Given the description of an element on the screen output the (x, y) to click on. 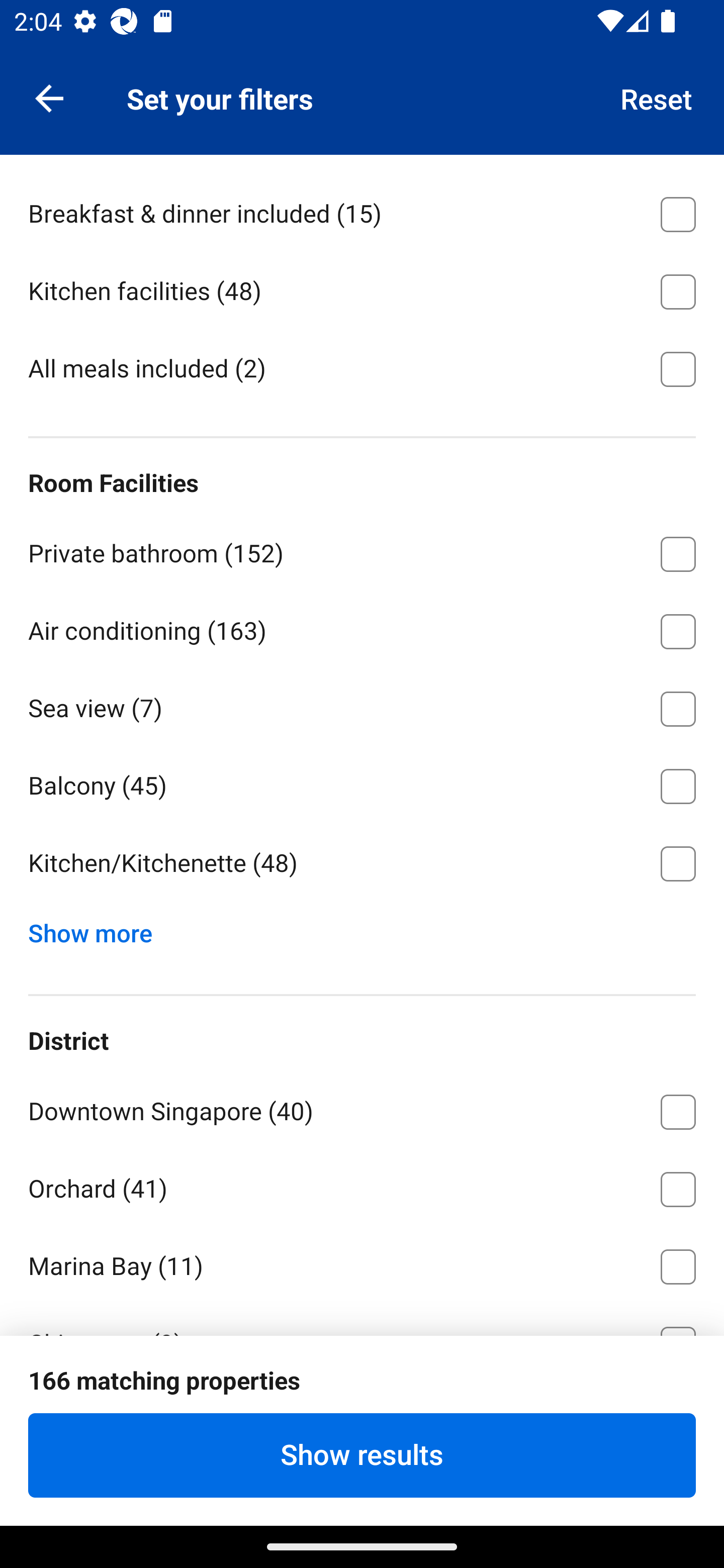
Navigate up (49, 97)
Reset (656, 97)
Breakfast & dinner included ⁦(15) (361, 210)
Kitchen facilities ⁦(48) (361, 288)
All meals included ⁦(2) (361, 367)
Private bathroom ⁦(152) (361, 550)
Air conditioning ⁦(163) (361, 627)
Sea view ⁦(7) (361, 705)
Balcony ⁦(45) (361, 782)
Kitchen/Kitchenette ⁦(48) (361, 863)
Show more (97, 928)
Downtown Singapore ⁦(40) (361, 1108)
Orchard ⁦(41) (361, 1185)
Marina Bay ⁦(11) (361, 1262)
Show results (361, 1454)
